Given the description of an element on the screen output the (x, y) to click on. 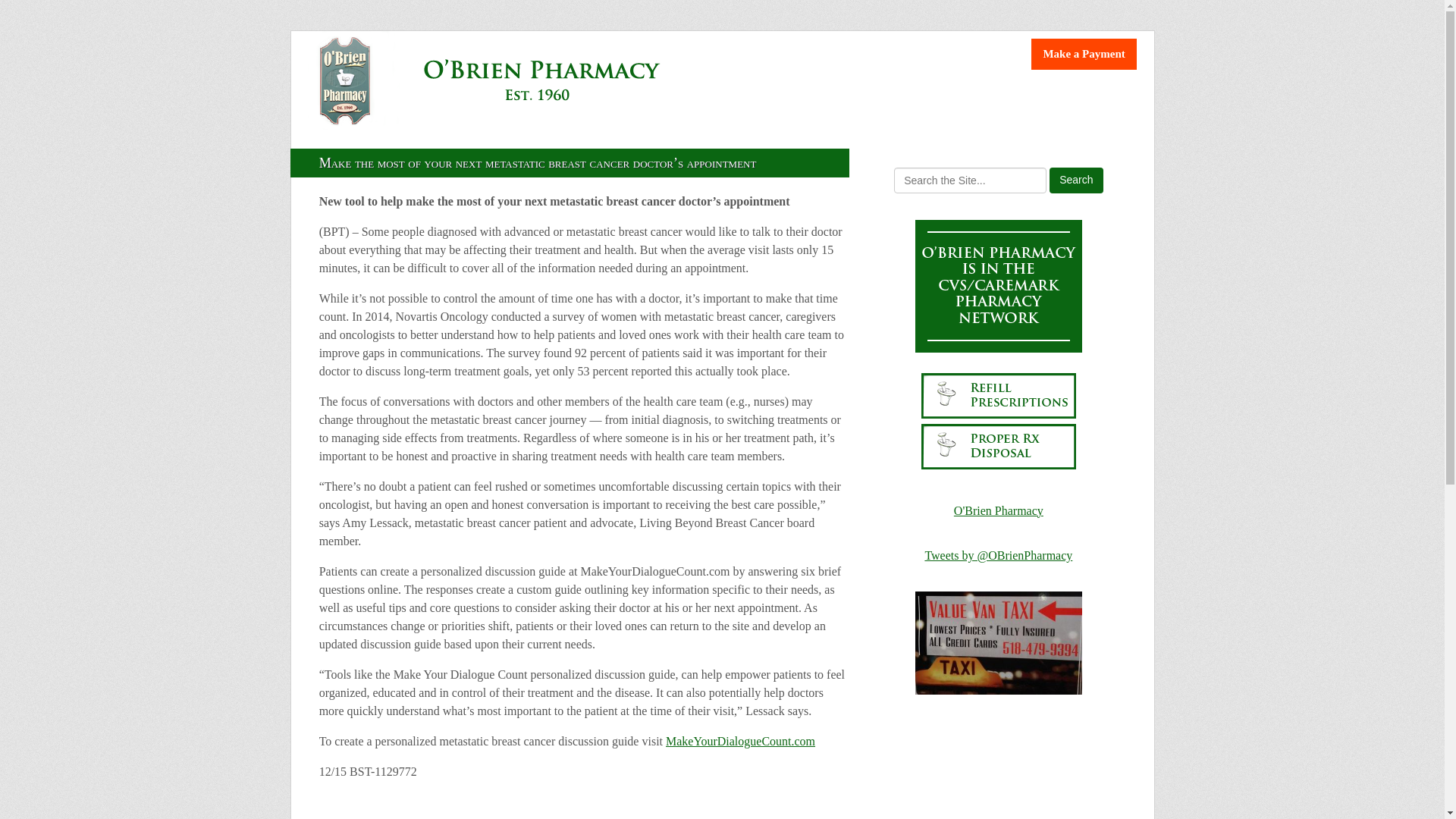
Search (1075, 180)
Search (1075, 180)
Coupons (827, 145)
MakeYourDialogueCount.com (740, 740)
About Us (458, 145)
Make a Payment (1082, 53)
O'Brien Pharmacy (998, 510)
Prescriptions (593, 145)
Home (342, 145)
Gifts (716, 145)
